Given the description of an element on the screen output the (x, y) to click on. 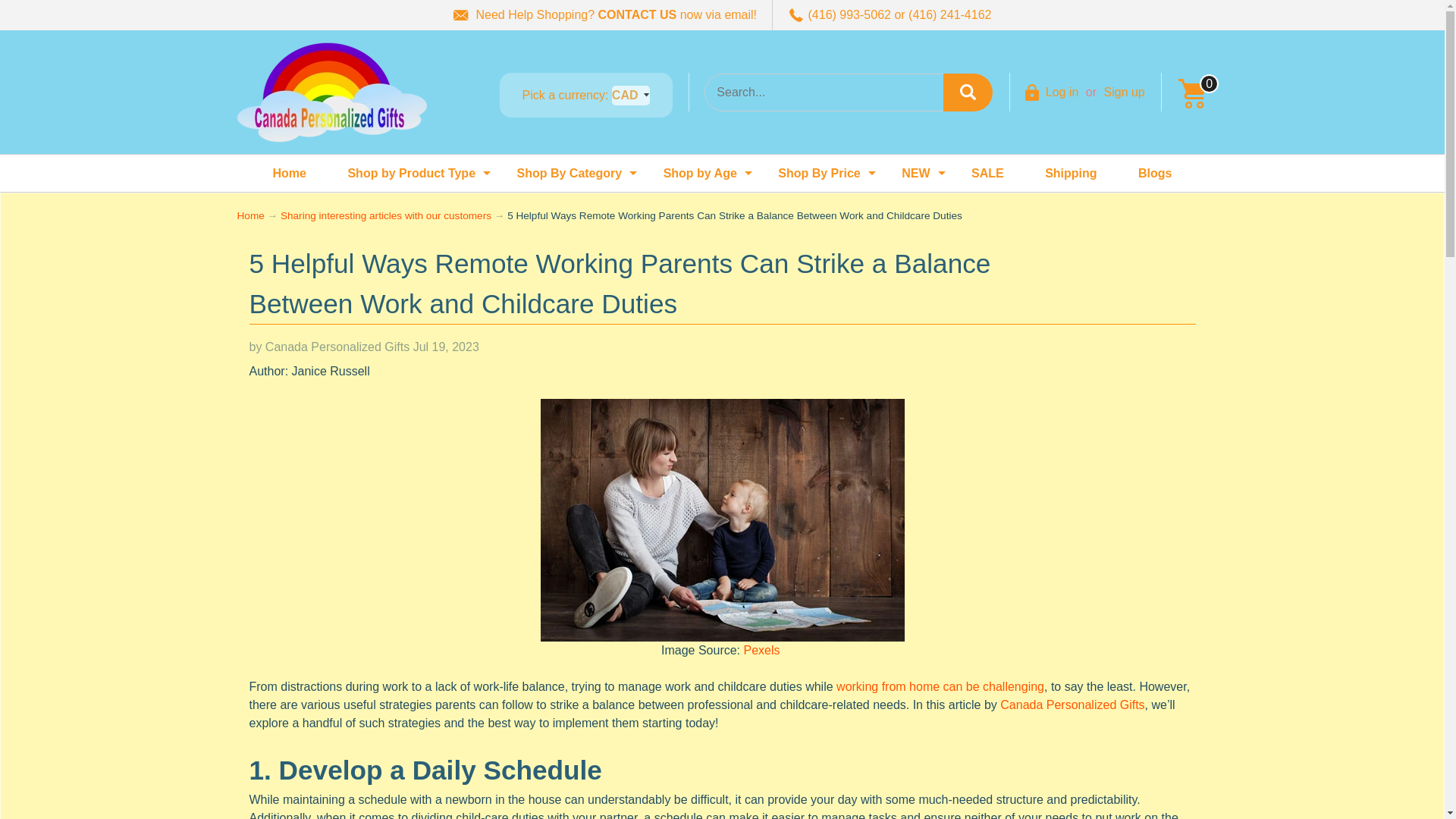
Canada Personalized Gifts (331, 91)
Home (288, 172)
Log in (412, 172)
Need Help Shopping? CONTACT US now via email! (1061, 91)
Search (604, 15)
0 (967, 92)
Back to the home page (1191, 91)
Sign up (568, 172)
